Given the description of an element on the screen output the (x, y) to click on. 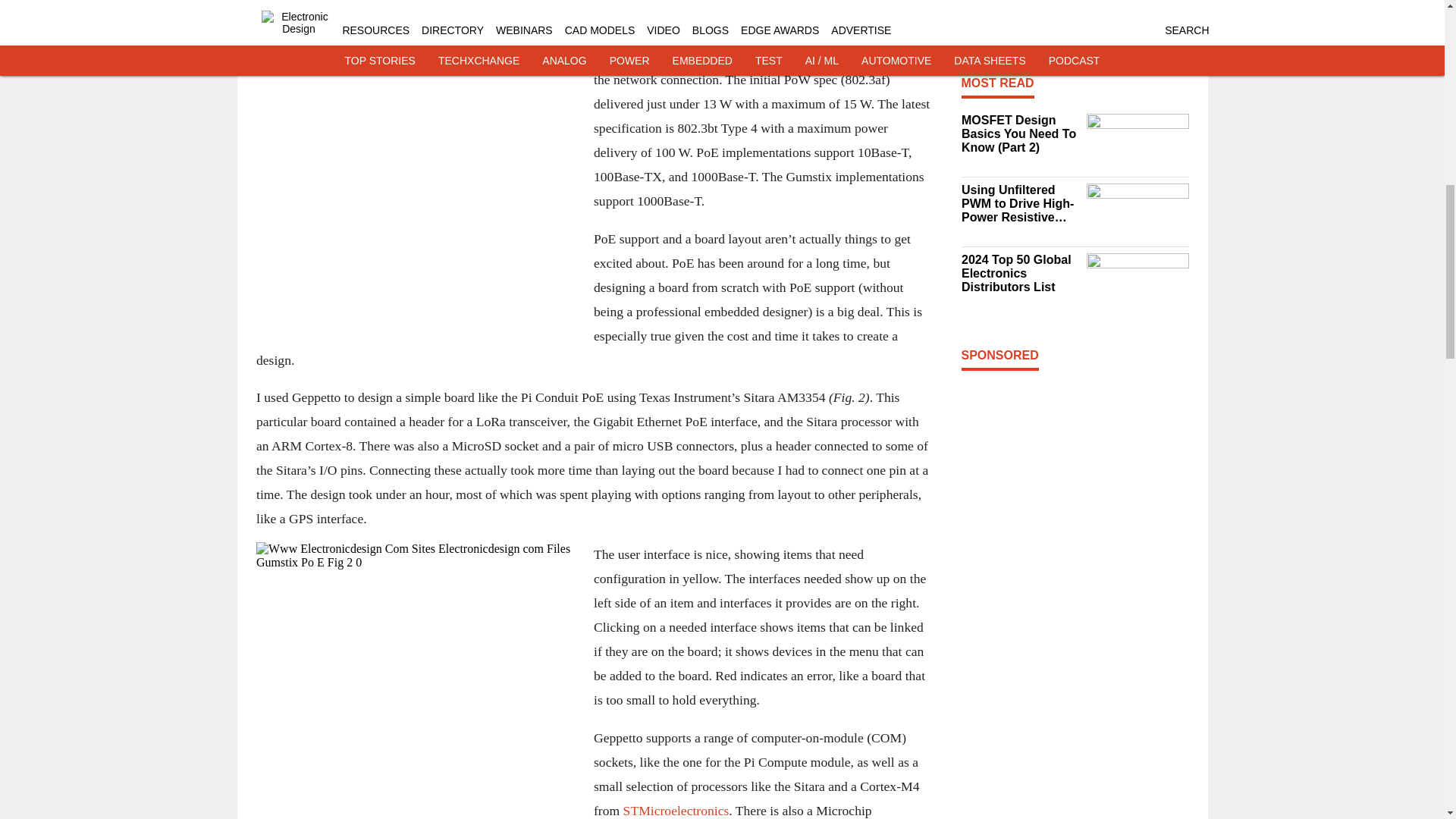
STMicroelectronics (676, 810)
Pi Compute module (470, 1)
